Given the description of an element on the screen output the (x, y) to click on. 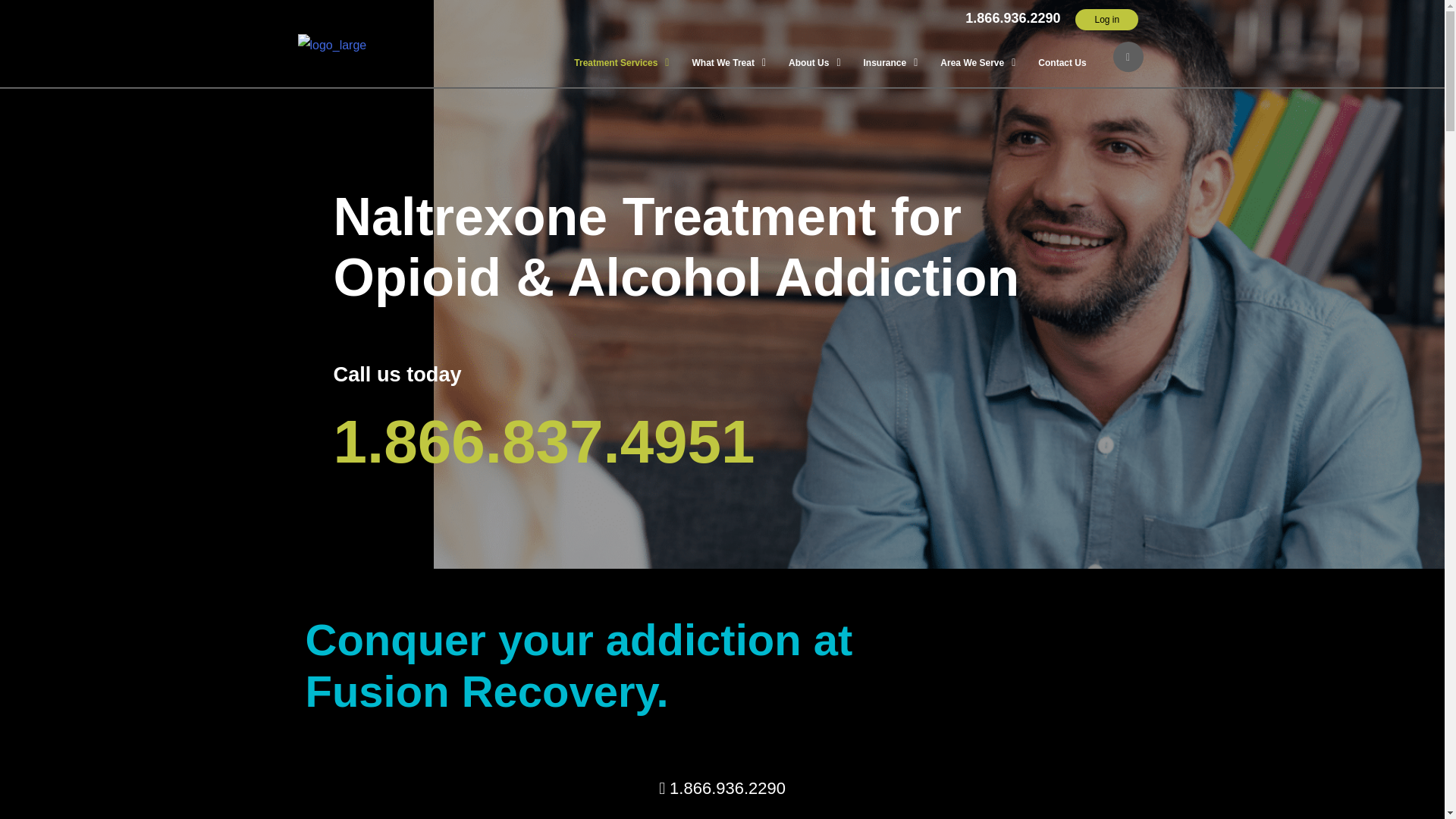
Treatment Services (620, 62)
Log in (1106, 19)
1.866.936.2290 (1012, 17)
What We Treat (728, 62)
